Given the description of an element on the screen output the (x, y) to click on. 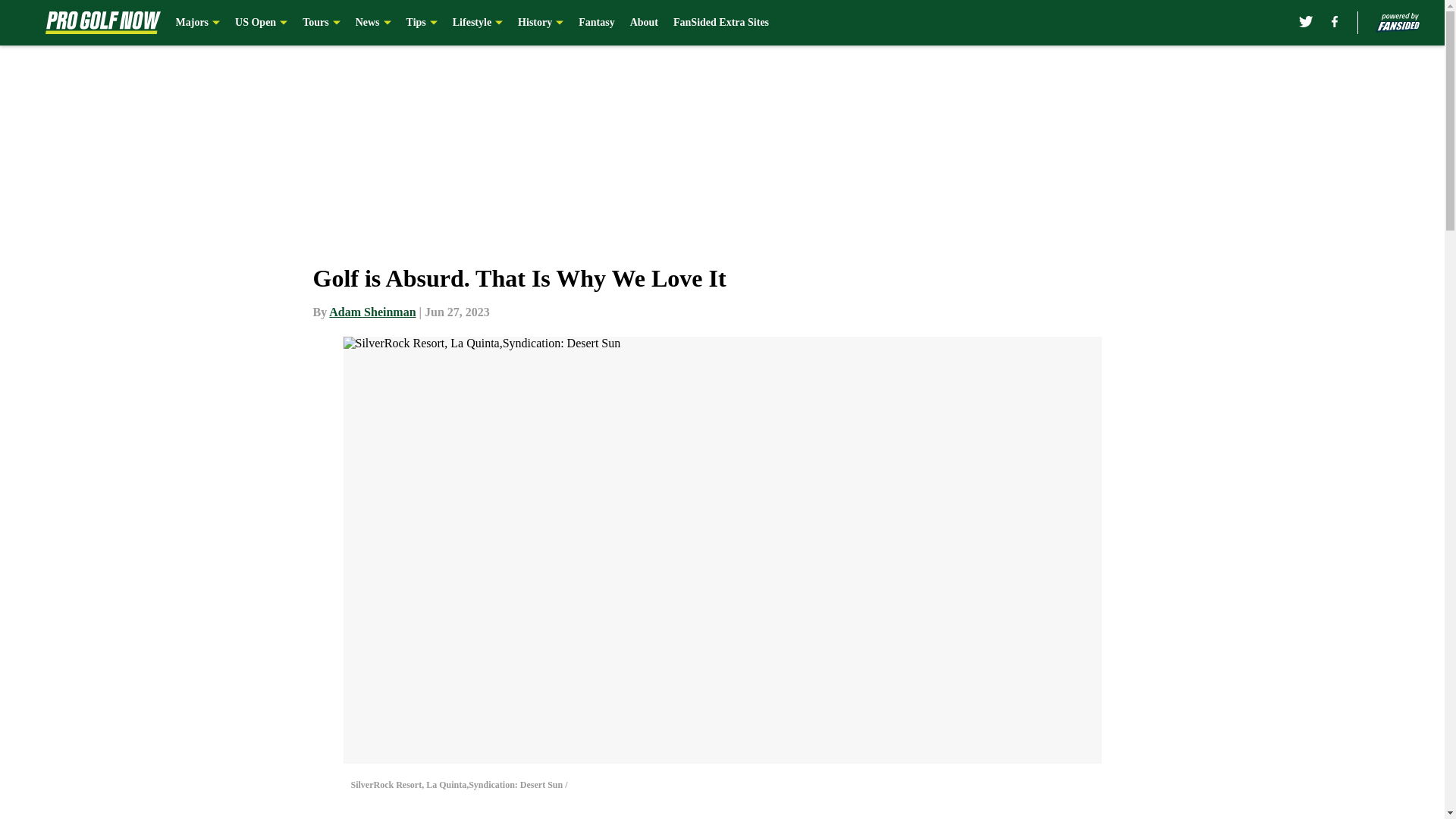
About (644, 22)
Adam Sheinman (371, 311)
FanSided Extra Sites (720, 22)
Fantasy (596, 22)
